Given the description of an element on the screen output the (x, y) to click on. 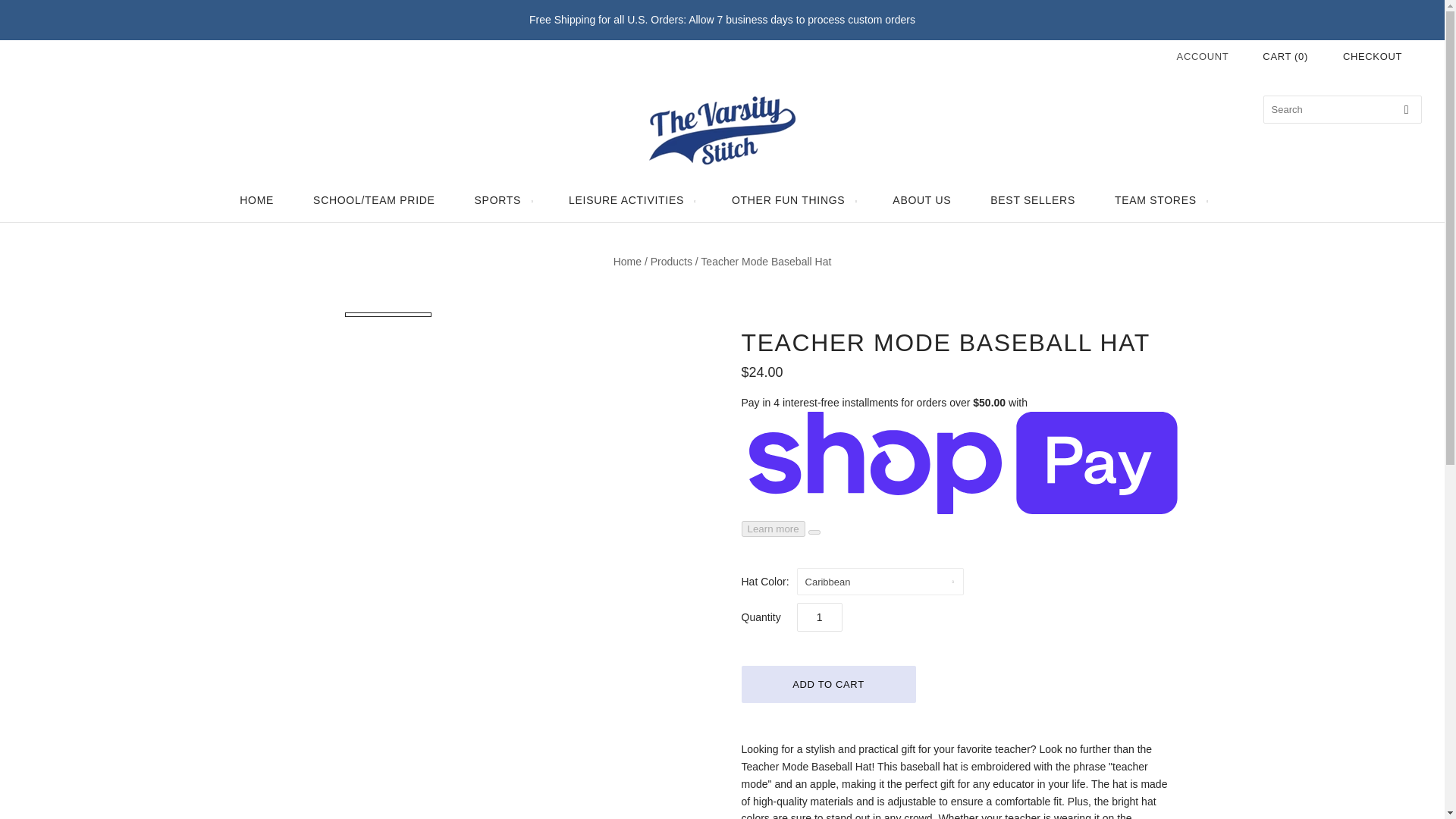
CHECKOUT (1372, 56)
HOME (256, 200)
ACCOUNT (1202, 56)
1 (819, 616)
LEISURE ACTIVITIES (629, 200)
Add to cart (828, 683)
SPORTS (502, 200)
